Given the description of an element on the screen output the (x, y) to click on. 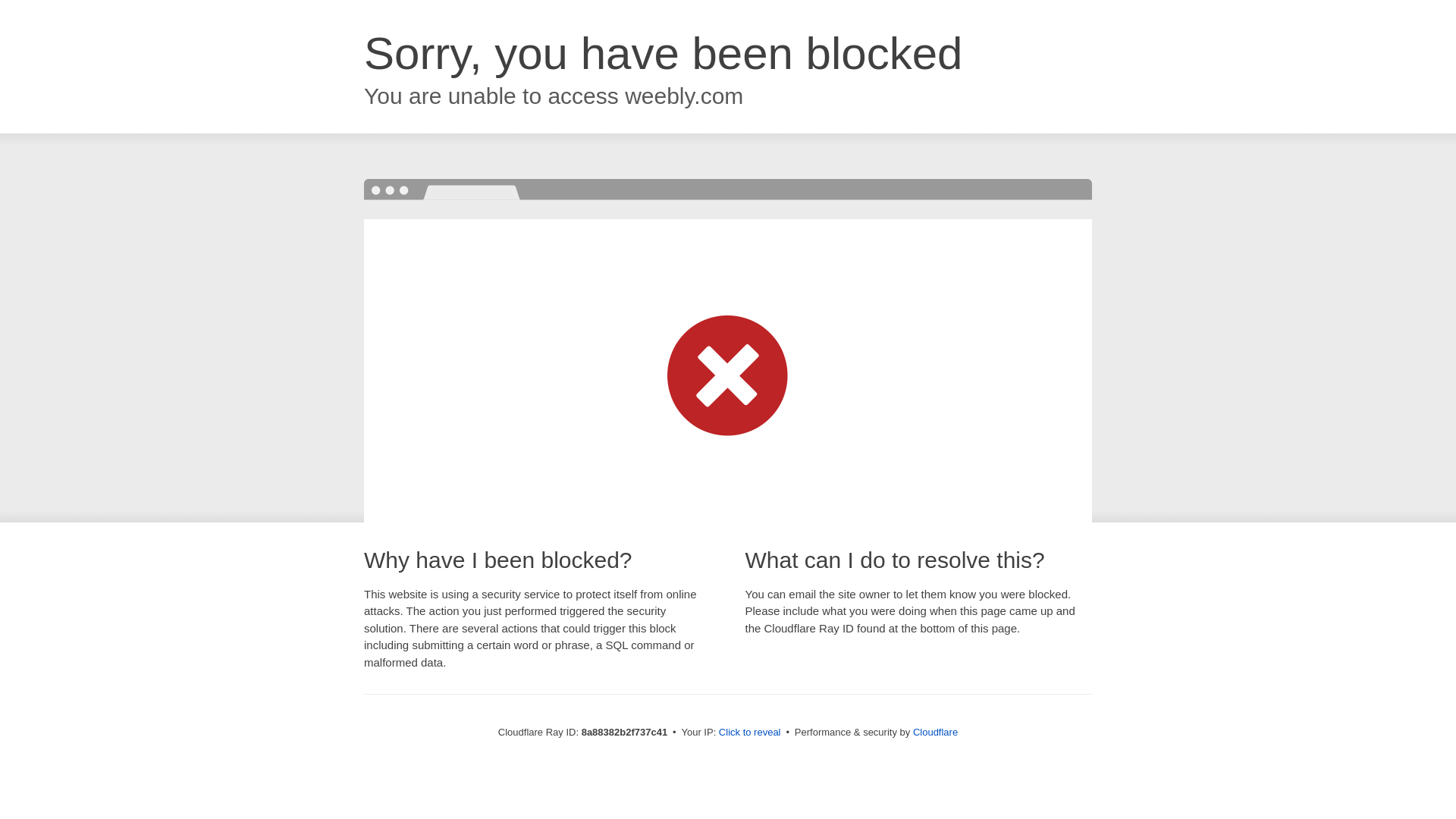
Cloudflare (935, 731)
Click to reveal (749, 732)
